Given the description of an element on the screen output the (x, y) to click on. 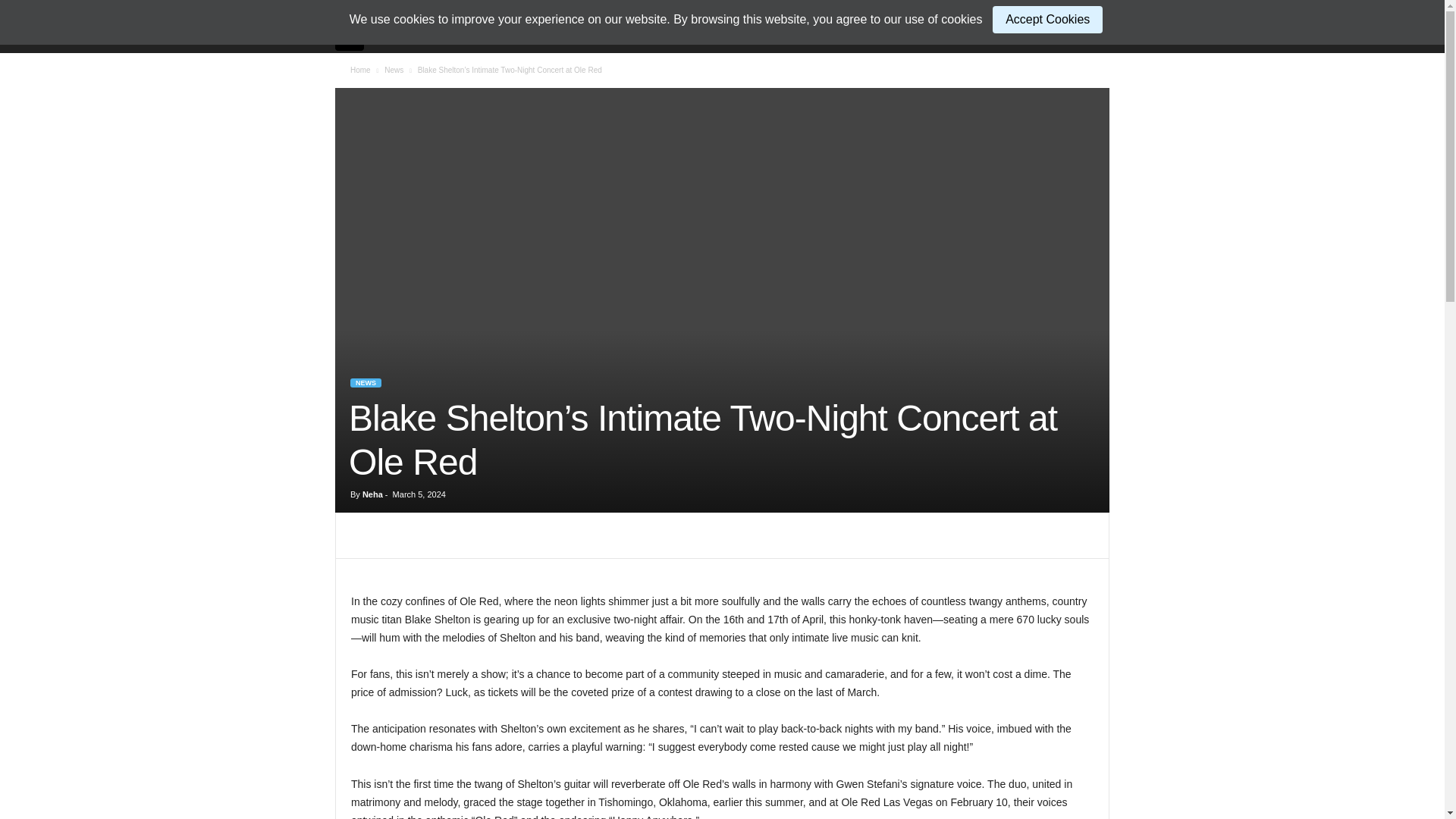
View all posts in News (393, 70)
Tunf News (357, 35)
News (393, 70)
HOME (406, 36)
Neha (372, 493)
Home (360, 70)
NEWS (365, 382)
